Given the description of an element on the screen output the (x, y) to click on. 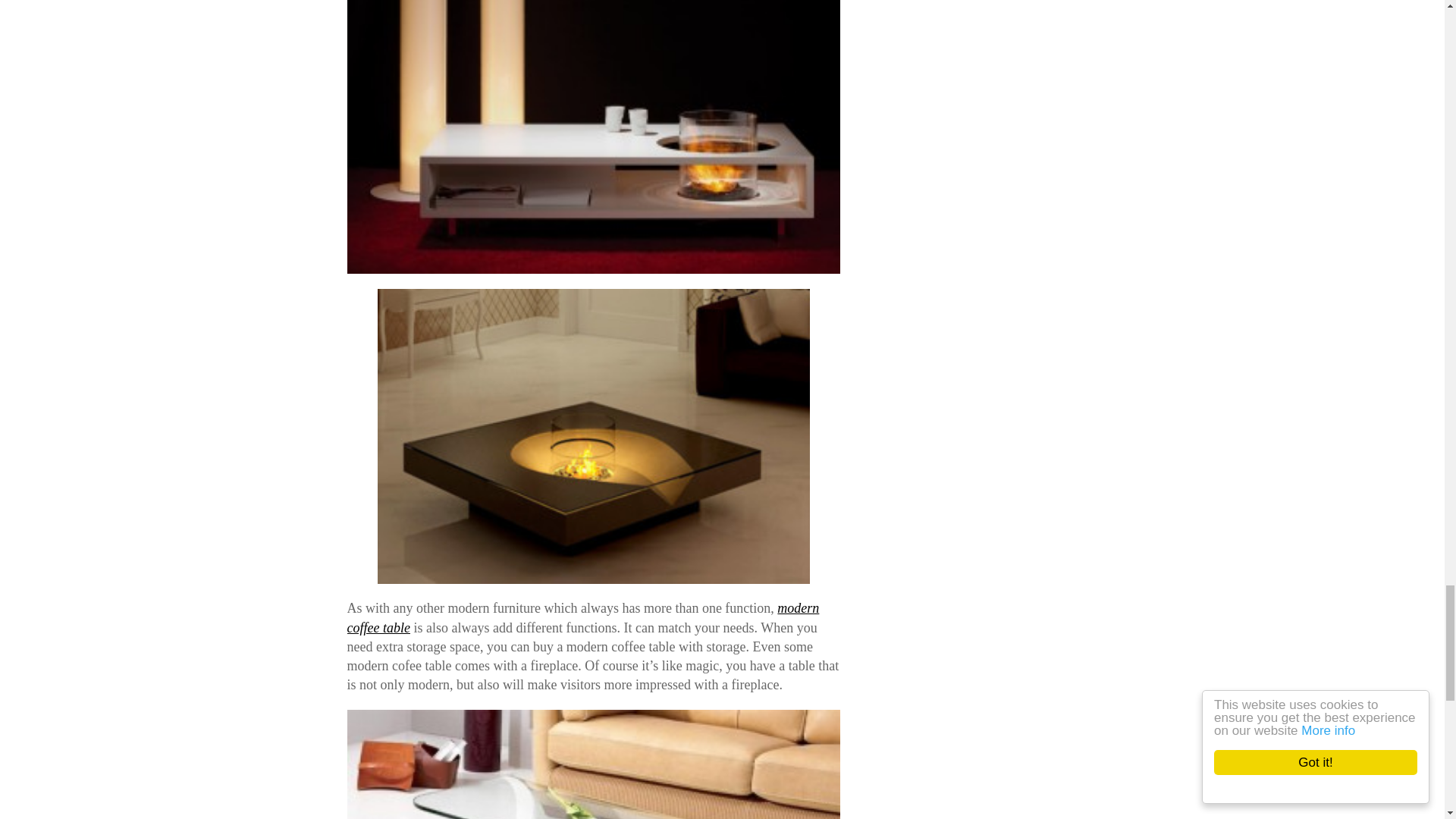
modern coffee table (583, 617)
